Given the description of an element on the screen output the (x, y) to click on. 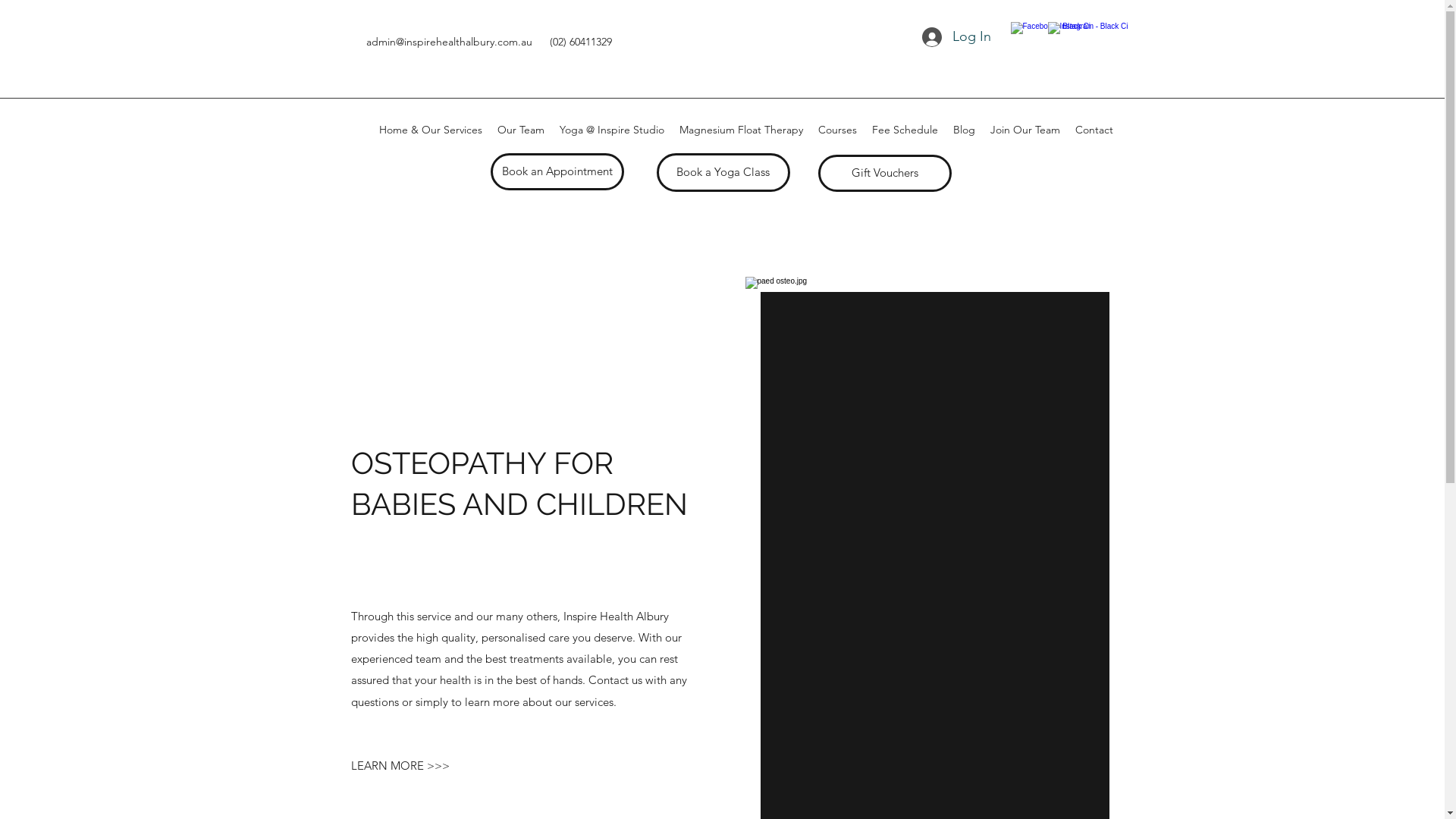
Our Team Element type: text (520, 130)
Home & Our Services Element type: text (430, 130)
Magnesium Float Therapy Element type: text (740, 130)
Blog Element type: text (963, 130)
Fee Schedule Element type: text (904, 130)
Contact Element type: text (1093, 130)
LEARN MORE >>> Element type: text (399, 765)
Yoga @ Inspire Studio Element type: text (611, 130)
Book a Yoga Class Element type: text (723, 172)
Gift Vouchers Element type: text (883, 172)
Courses Element type: text (836, 130)
Book an Appointment Element type: text (556, 171)
Join Our Team Element type: text (1024, 130)
Log In Element type: text (956, 36)
admin@inspirehealthalbury.com.au Element type: text (448, 41)
